Given the description of an element on the screen output the (x, y) to click on. 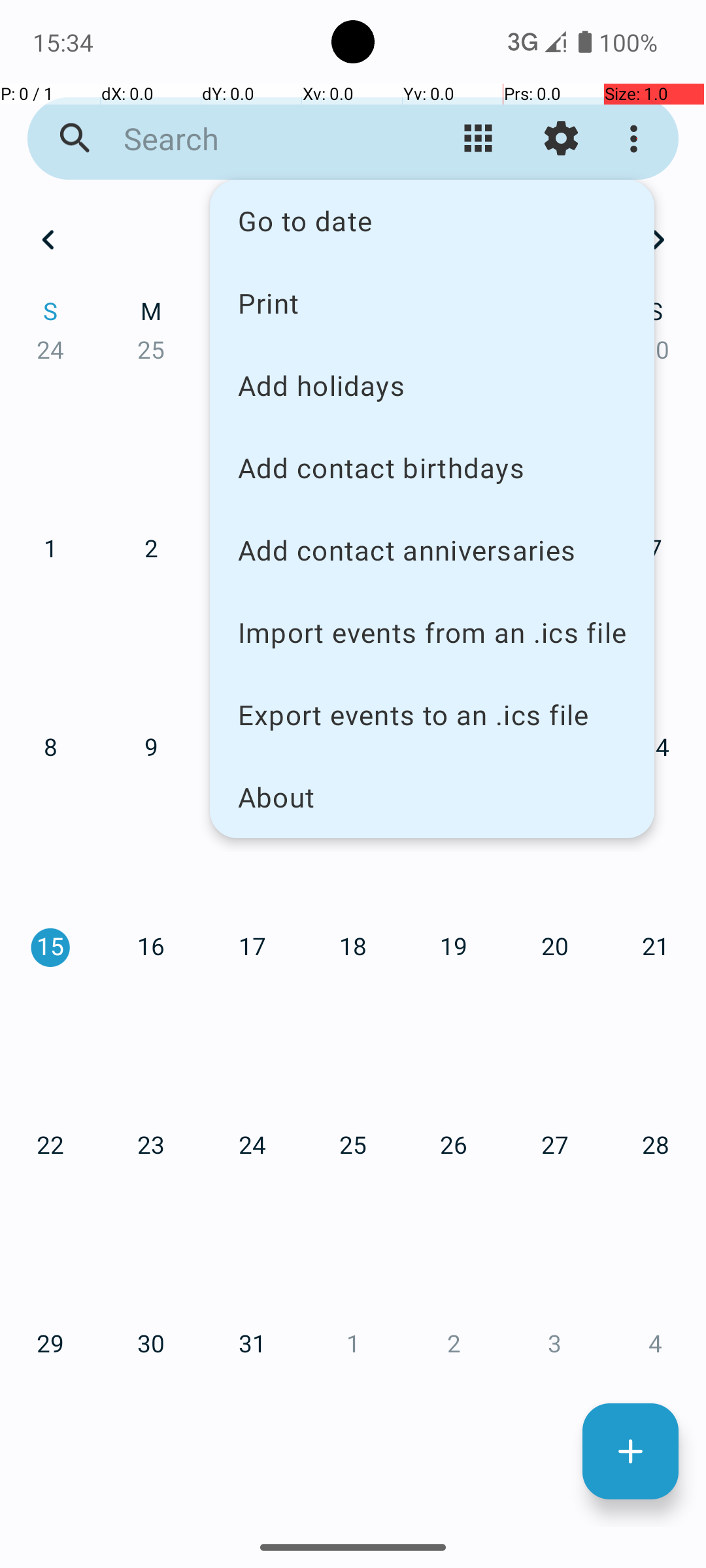
Go to date Element type: android.widget.TextView (431, 220)
Print Element type: android.widget.TextView (431, 302)
Add holidays Element type: android.widget.TextView (431, 384)
Add contact birthdays Element type: android.widget.TextView (431, 467)
Add contact anniversaries Element type: android.widget.TextView (431, 549)
Import events from an .ics file Element type: android.widget.TextView (431, 631)
Export events to an .ics file Element type: android.widget.TextView (431, 714)
